Given the description of an element on the screen output the (x, y) to click on. 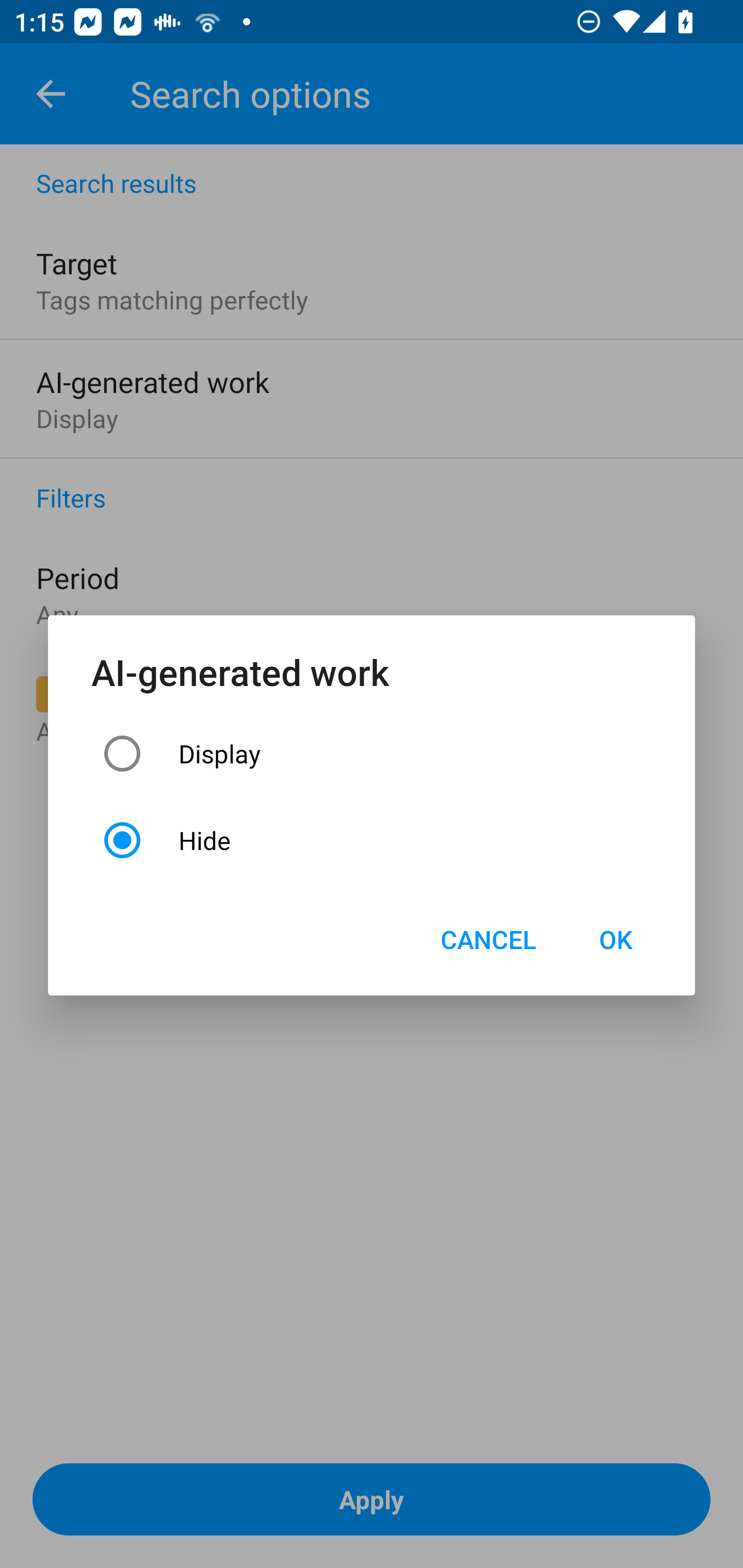
Display (371, 753)
Hide (371, 839)
CANCEL (488, 938)
OK (615, 938)
